Given the description of an element on the screen output the (x, y) to click on. 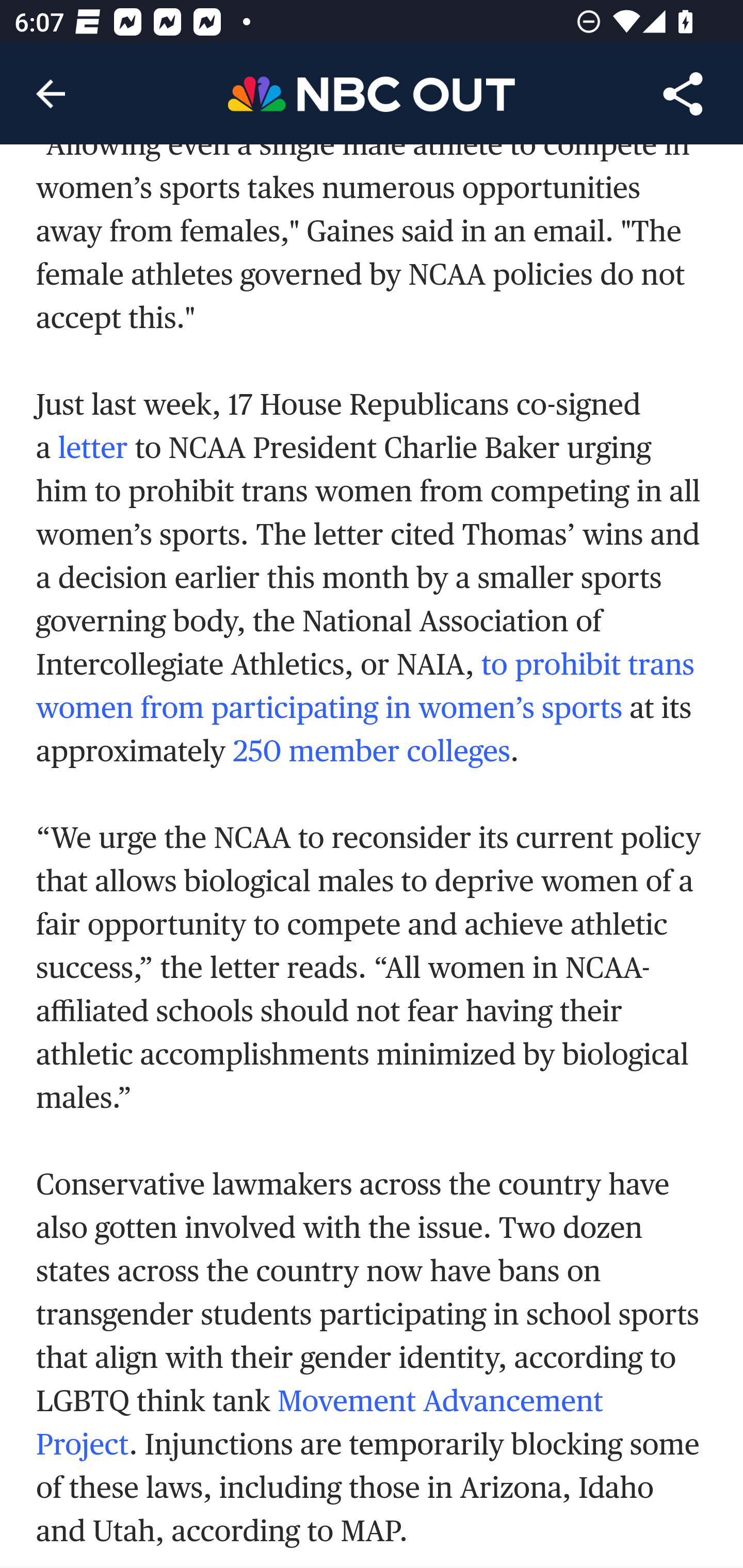
Navigate up (50, 93)
Share Article, button (683, 94)
Header, NBC Out (371, 93)
letter (92, 449)
250 member colleges (371, 751)
Movement Advancement Project (320, 1424)
